Given the description of an element on the screen output the (x, y) to click on. 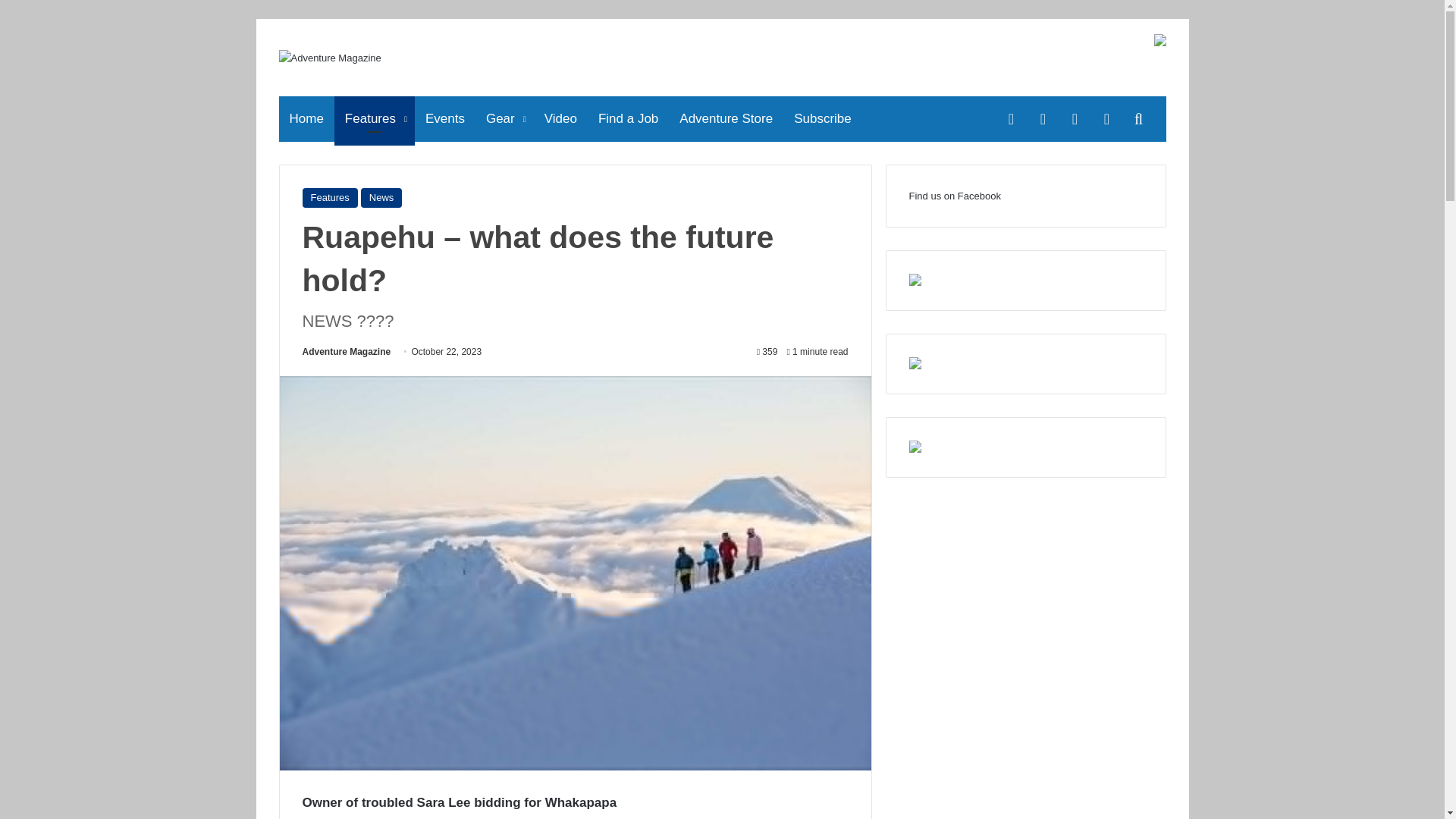
Home (306, 118)
Adventure Store (725, 118)
Subscribe (822, 118)
Gear (505, 118)
Video (561, 118)
Adventure Magazine (330, 57)
Features (374, 118)
Events (445, 118)
Adventure Magazine (345, 351)
Find a Job (628, 118)
